Given the description of an element on the screen output the (x, y) to click on. 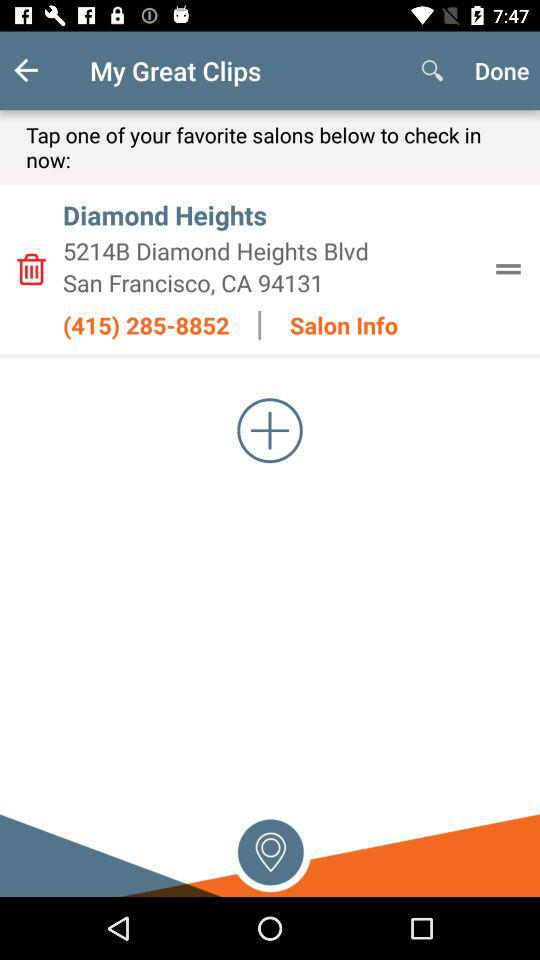
delete information (31, 269)
